Given the description of an element on the screen output the (x, y) to click on. 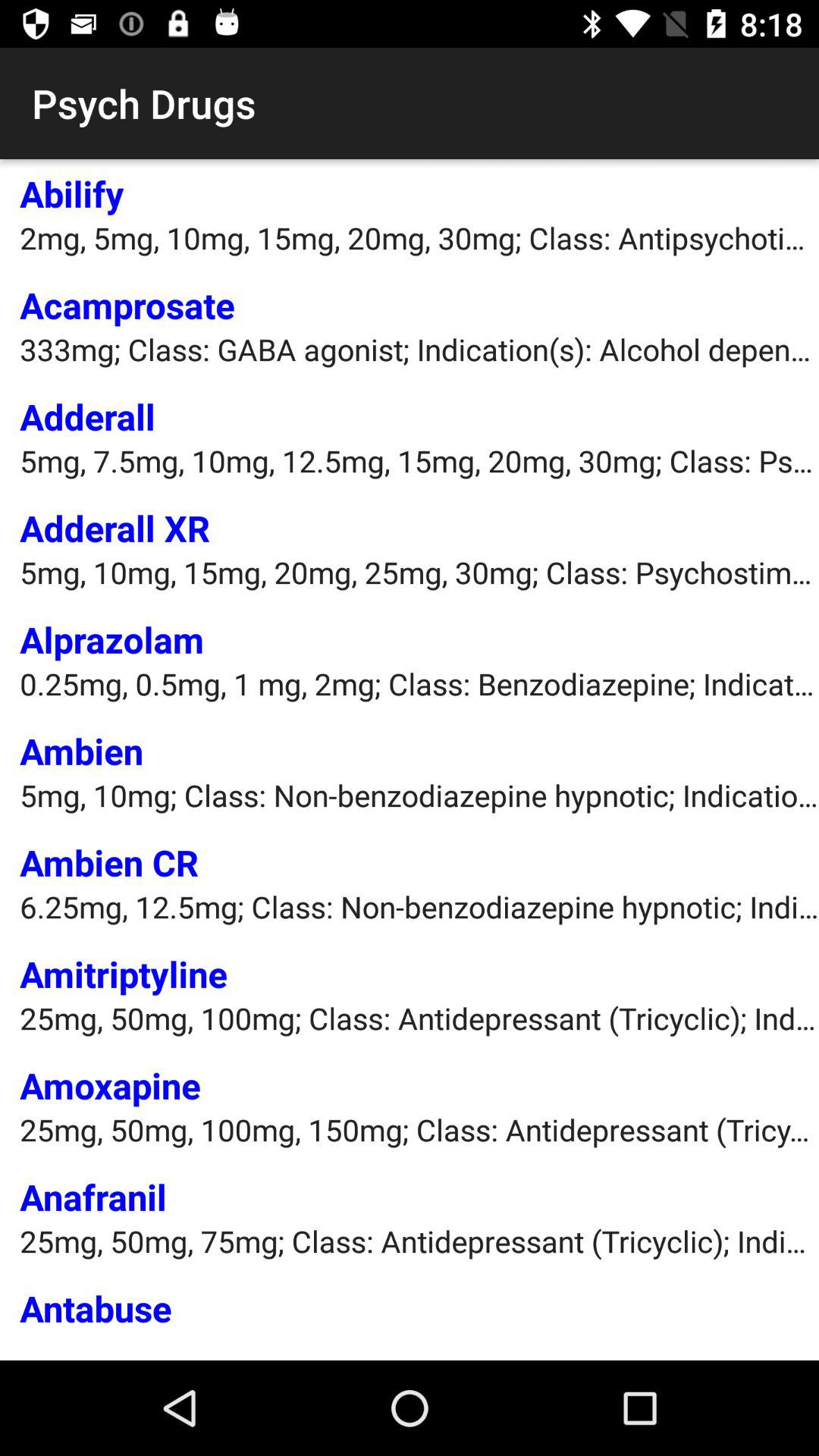
turn on the item below 5mg 10mg 15mg item (111, 639)
